Given the description of an element on the screen output the (x, y) to click on. 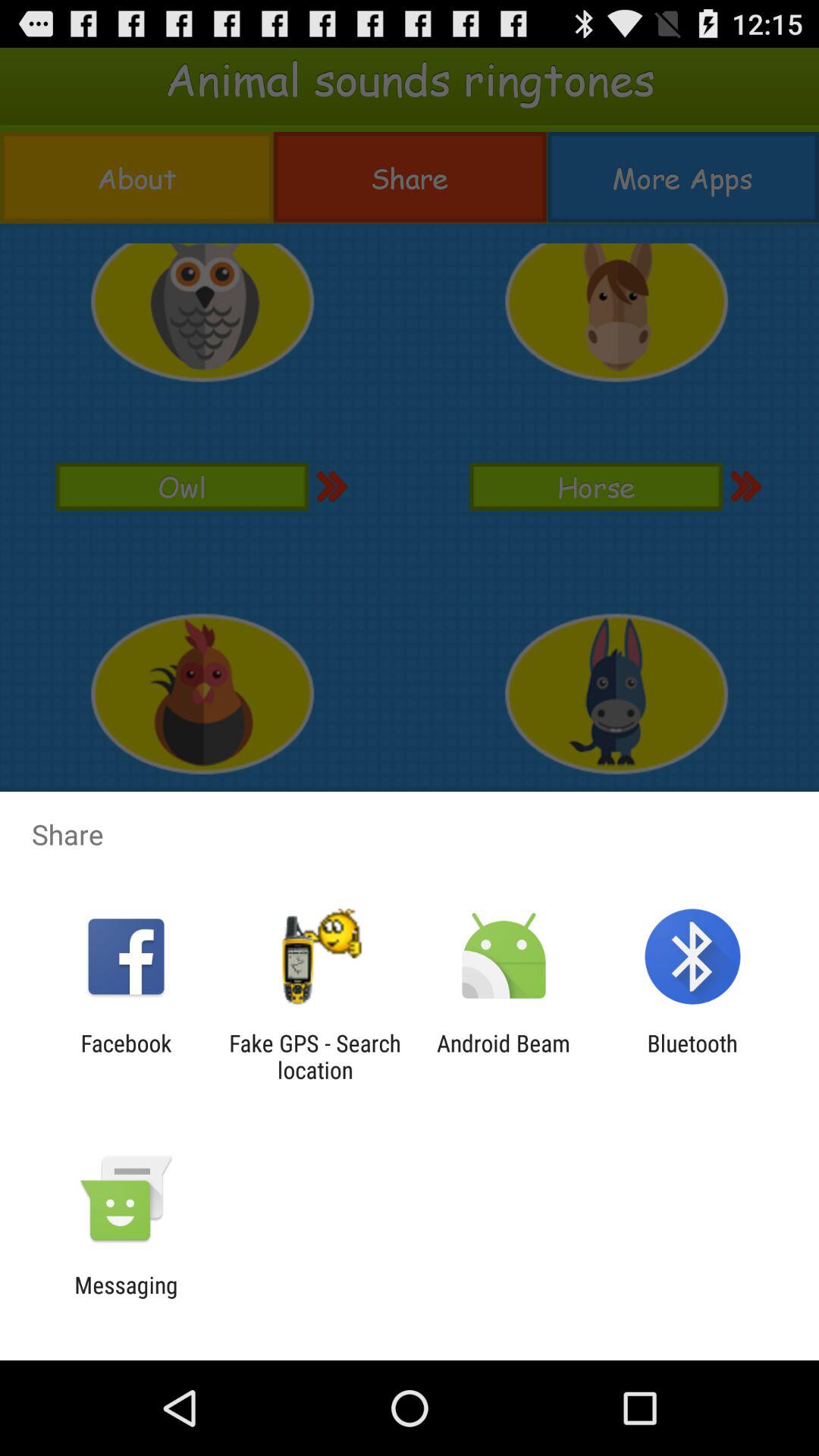
open the app next to the fake gps search item (503, 1056)
